Given the description of an element on the screen output the (x, y) to click on. 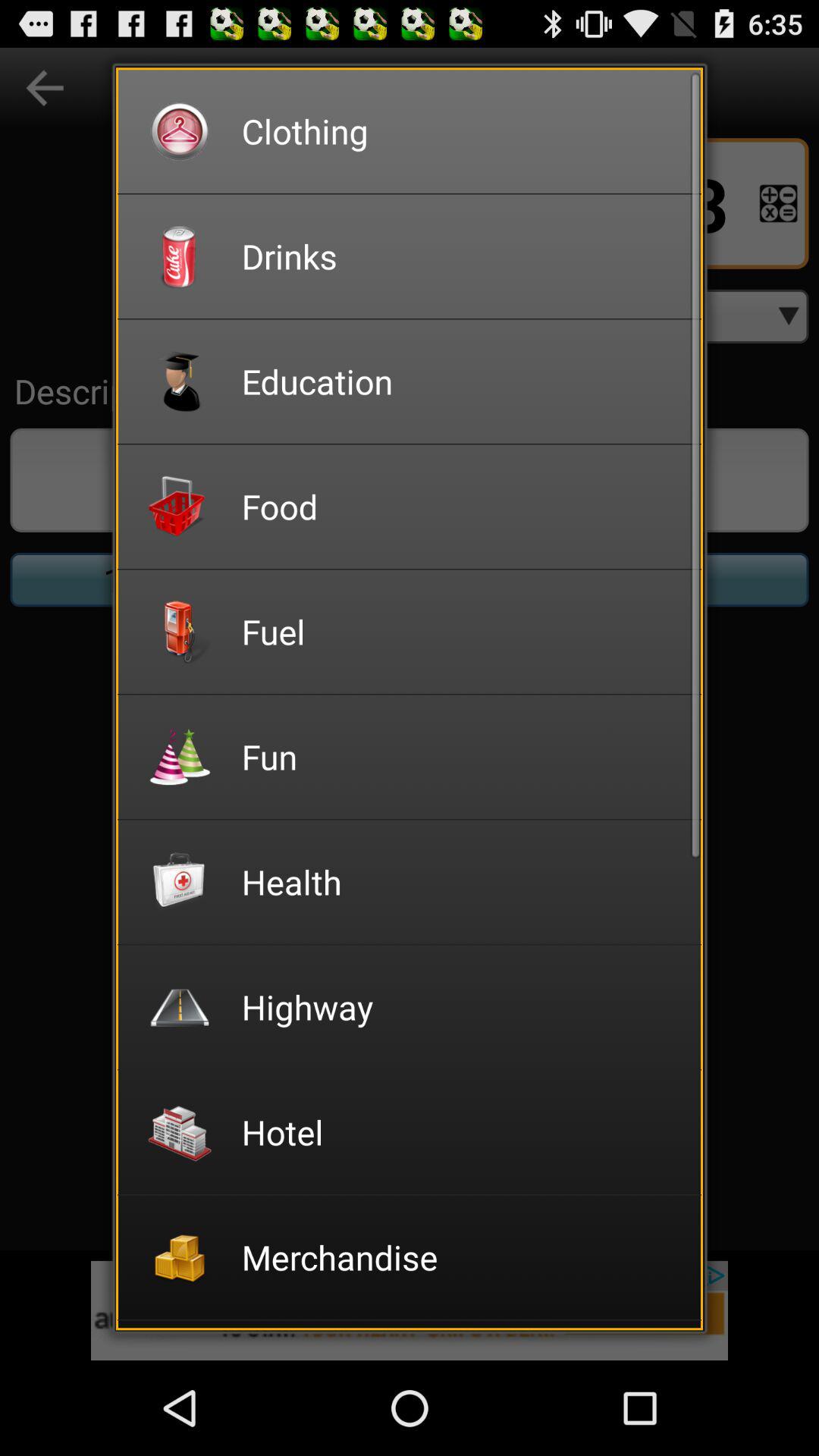
tap icon above merchandise (461, 1132)
